Given the description of an element on the screen output the (x, y) to click on. 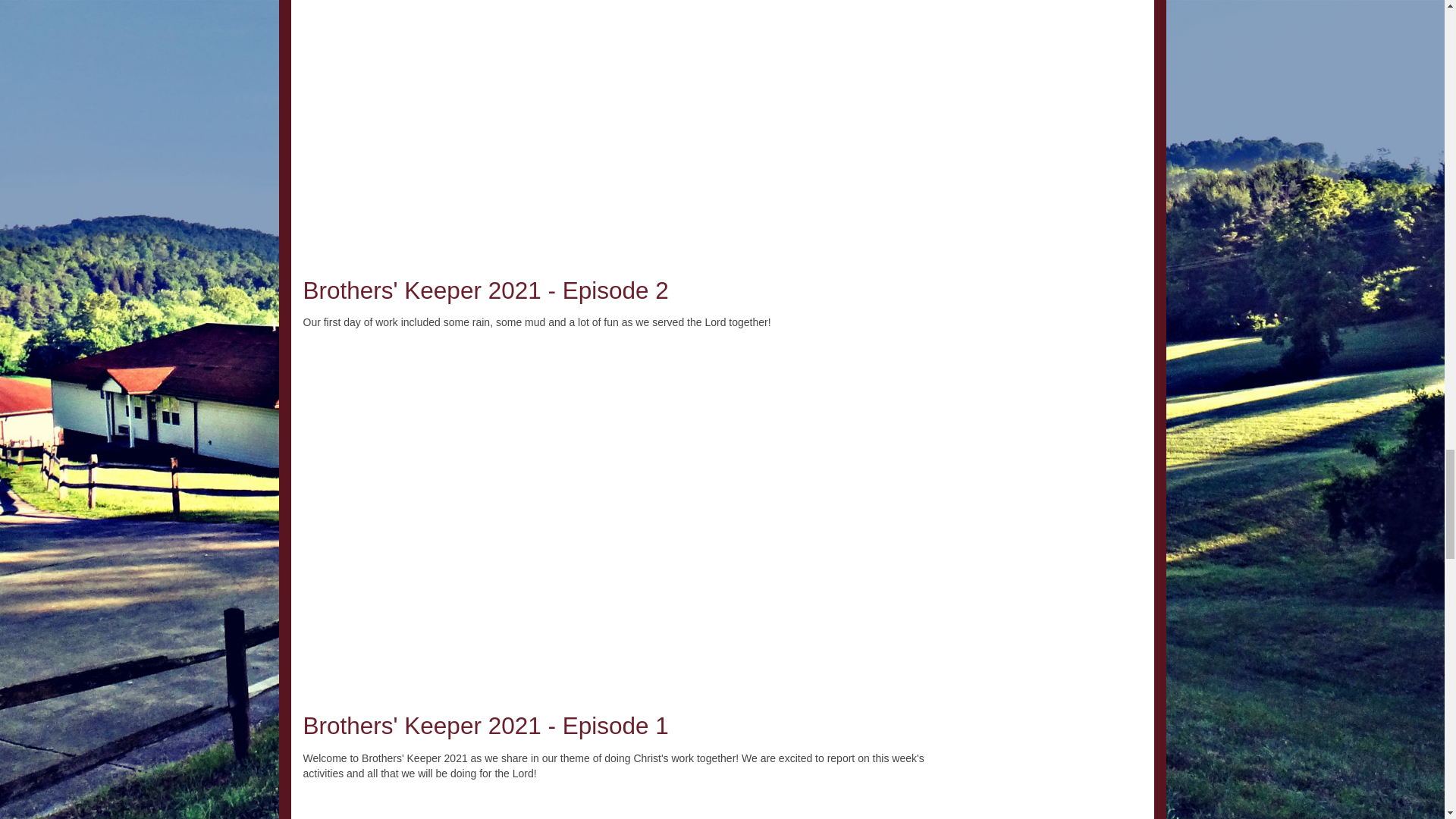
Brothers' Keeper 2021 - Episode 2 (485, 289)
Brothers' Keeper 2021 - Episode 1 (485, 725)
